Given the description of an element on the screen output the (x, y) to click on. 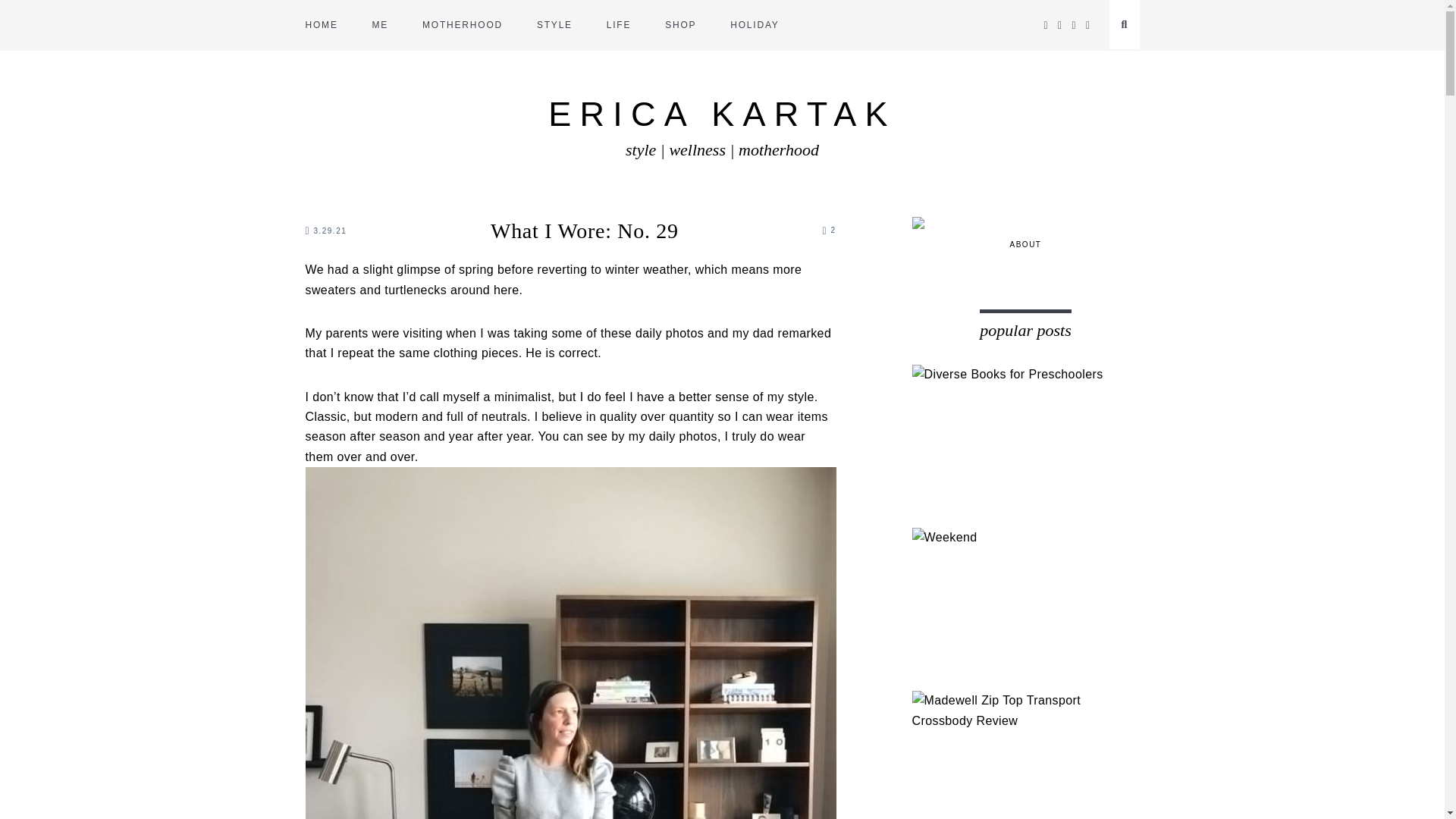
HOME (320, 25)
MOTHERHOOD (462, 25)
SHOP (680, 25)
HOLIDAY (754, 25)
What I Wore: No. 29 (584, 230)
STYLE (554, 25)
LIFE (619, 25)
2 (828, 230)
ERICA KARTAK (721, 114)
